Given the description of an element on the screen output the (x, y) to click on. 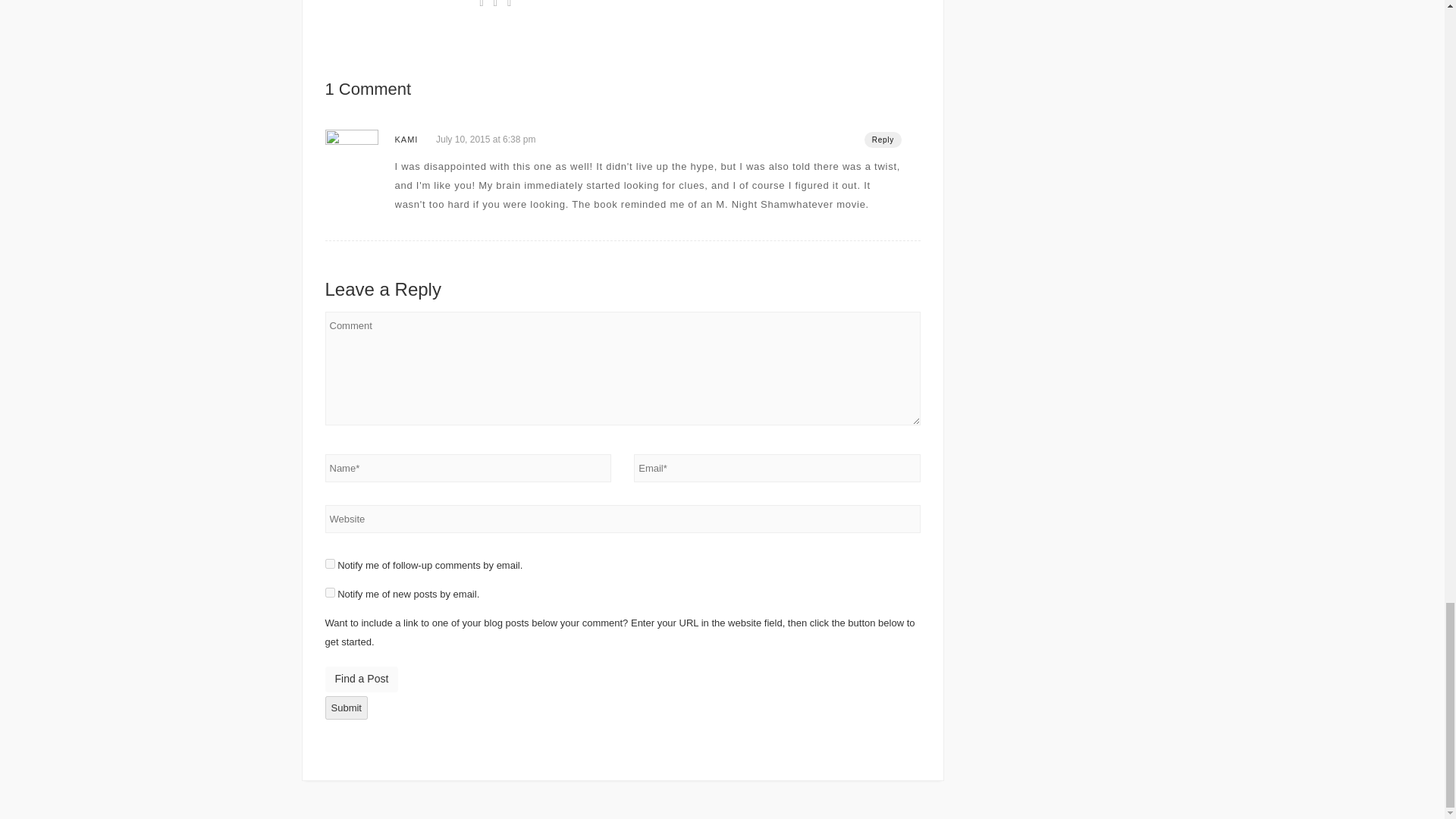
Submit (345, 707)
subscribe (329, 563)
subscribe (329, 592)
